Given the description of an element on the screen output the (x, y) to click on. 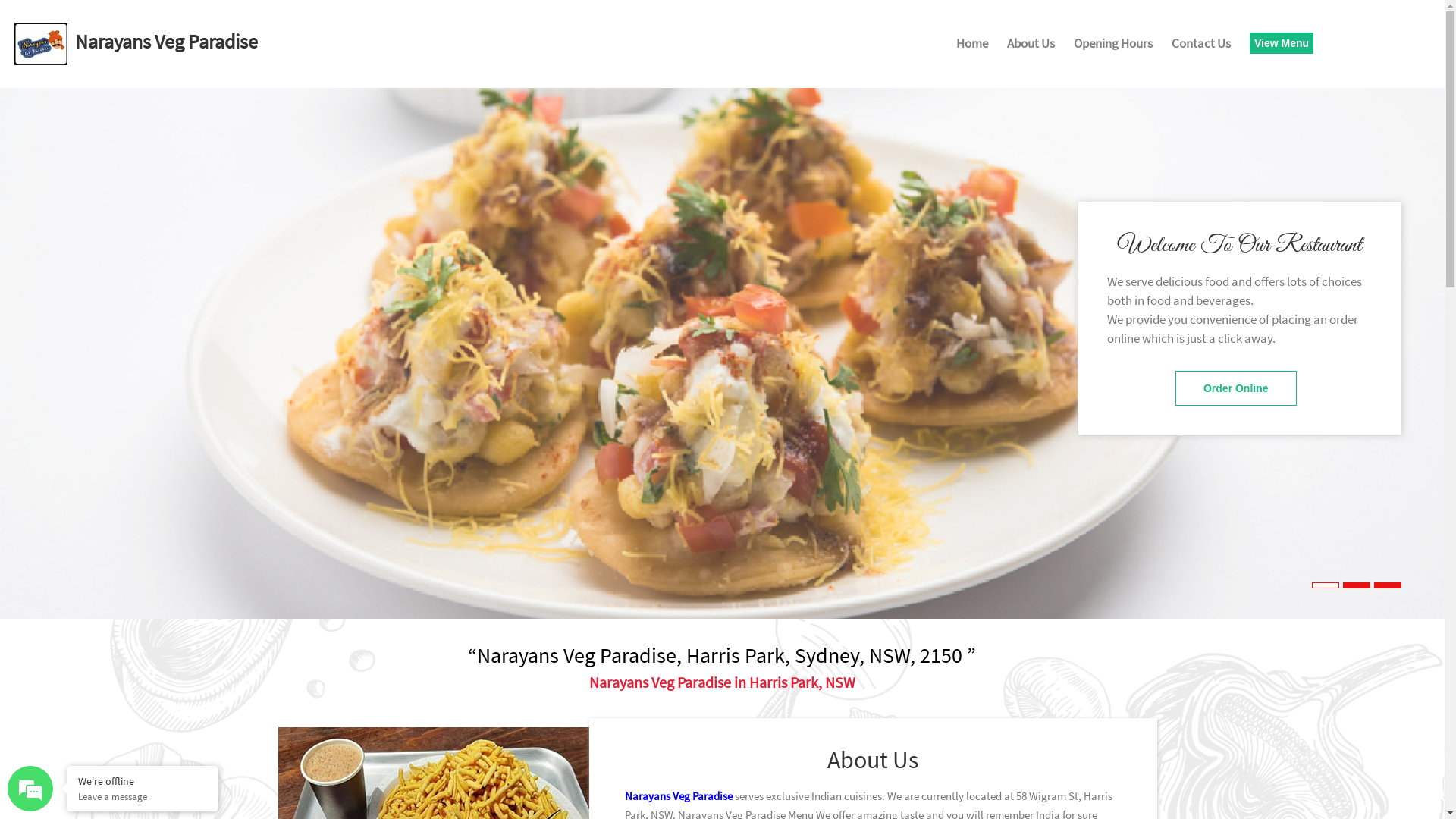
Contact Us Element type: text (1200, 44)
View Menu Element type: text (1281, 42)
About Us Element type: text (1030, 44)
Narayans Veg Paradise Element type: text (679, 795)
Home Element type: text (972, 44)
Opening Hours Element type: text (1112, 44)
Order Online Element type: text (1235, 387)
